Given the description of an element on the screen output the (x, y) to click on. 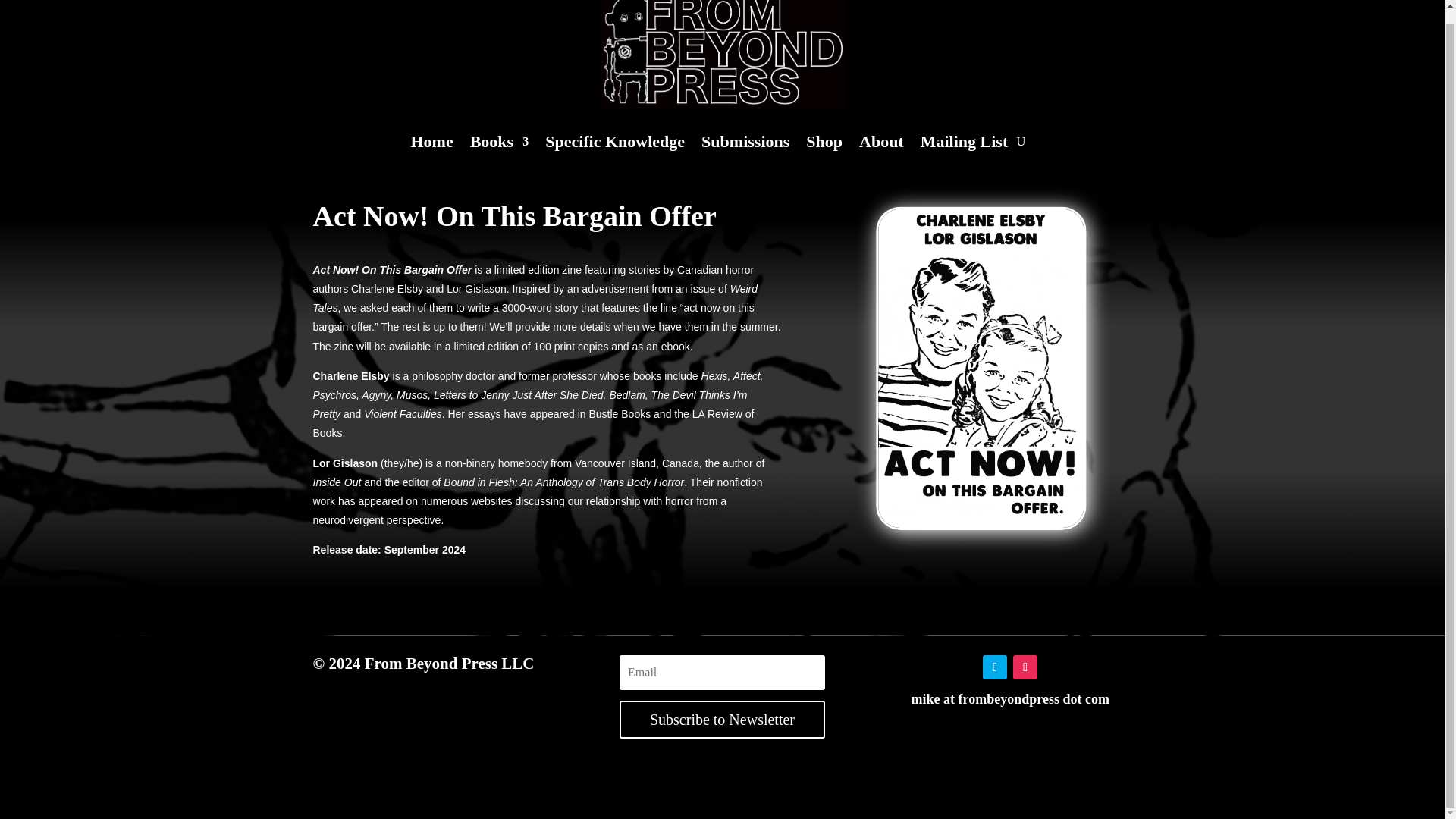
Specific Knowledge (614, 144)
About (881, 144)
Home (431, 144)
Submissions (745, 144)
Subscribe to Newsletter (722, 719)
Follow on Instagram (1024, 667)
Follow on Twitter (994, 667)
Books (499, 144)
from beyond press logo white on black (721, 54)
Mailing List (964, 144)
